Given the description of an element on the screen output the (x, y) to click on. 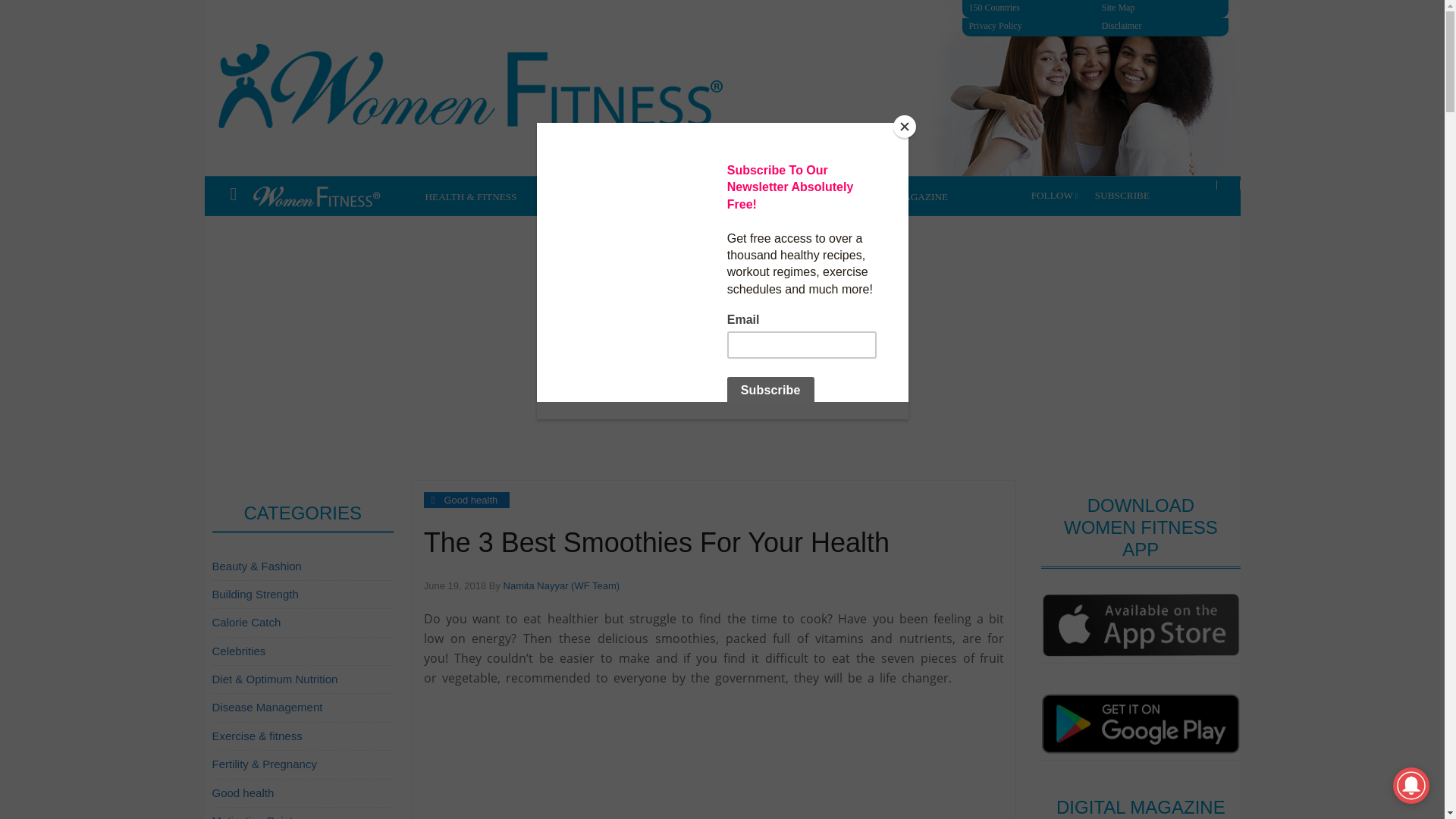
150 Countries (1028, 7)
Privacy Policy (1028, 25)
Good health (470, 499)
NEWS (639, 196)
FOLLOW (1054, 195)
Women Fitness (514, 88)
PRINT MAGAZINE (906, 196)
Disclaimer (1162, 25)
SUBSCRIBE (1123, 195)
Site Map (1162, 7)
CELEBRITIES (570, 196)
DIGITAL MAGAZINE (722, 196)
Building Strength (255, 594)
SHOPPING (817, 196)
